Given the description of an element on the screen output the (x, y) to click on. 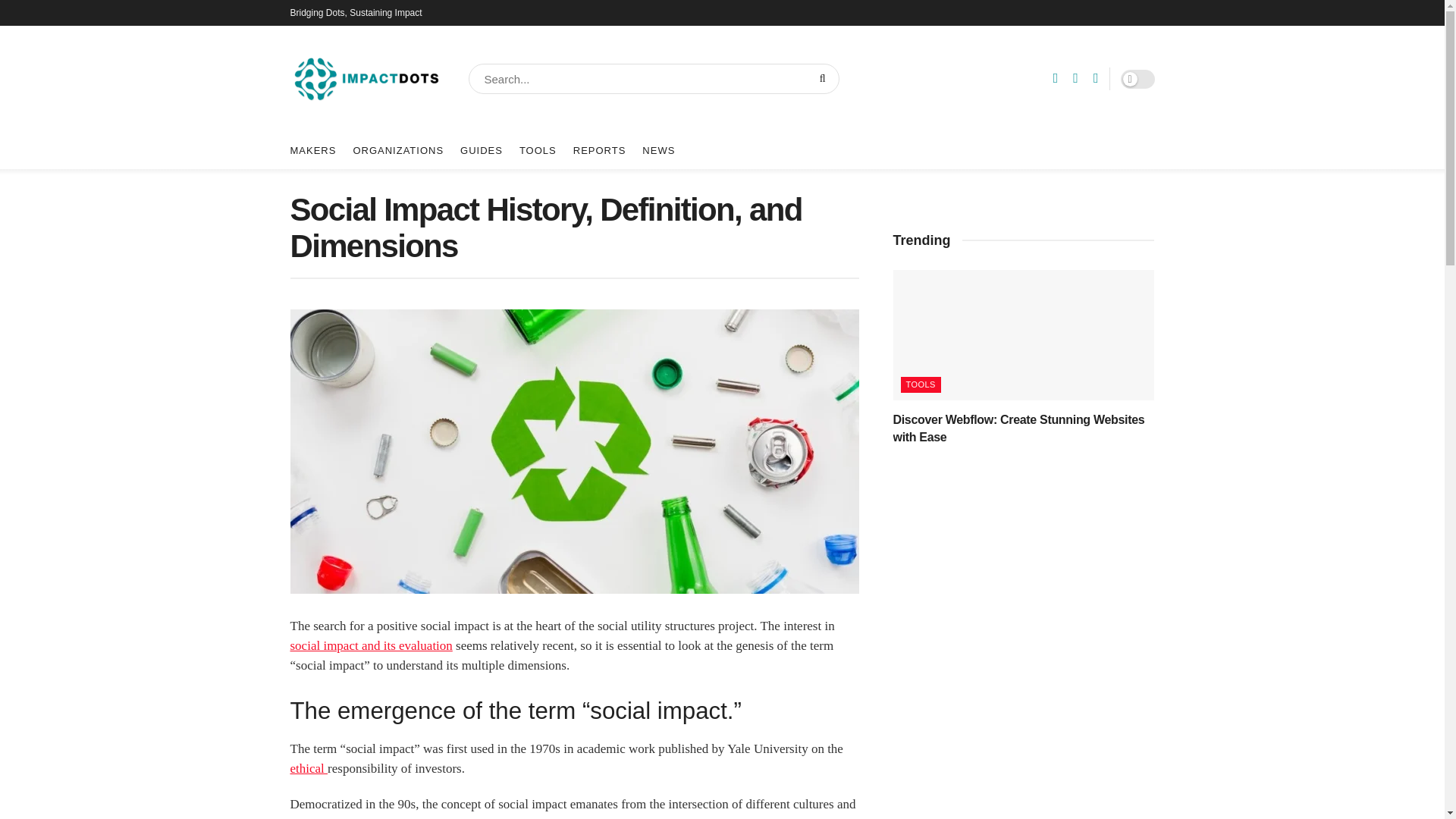
MAKERS (312, 149)
social impact and its evaluation (370, 645)
GUIDES (481, 149)
ethical (308, 768)
ORGANIZATIONS (398, 149)
TOOLS (537, 149)
REPORTS (599, 149)
